Given the description of an element on the screen output the (x, y) to click on. 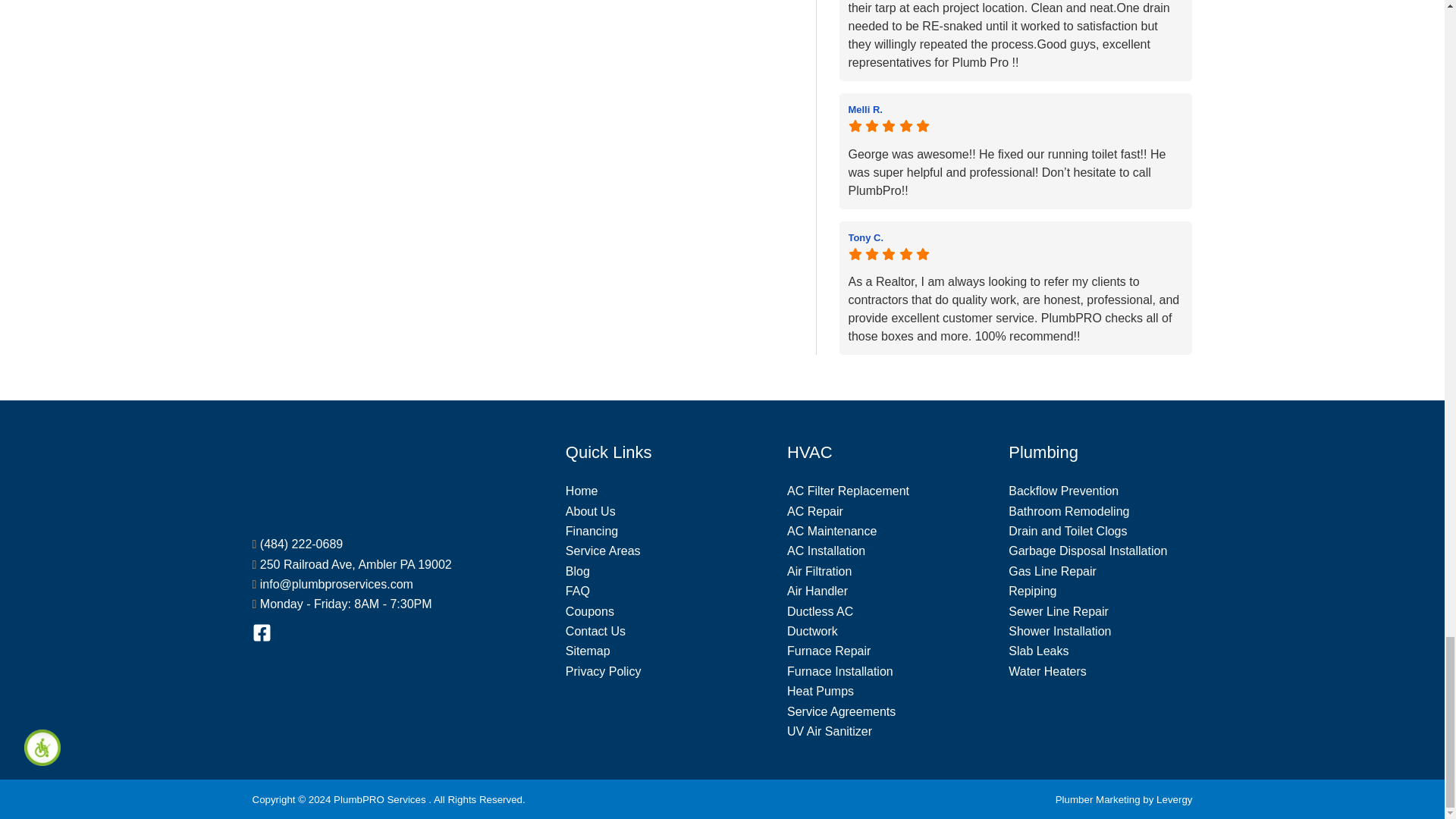
Melli R. (1014, 109)
Tony C. (1014, 237)
